Given the description of an element on the screen output the (x, y) to click on. 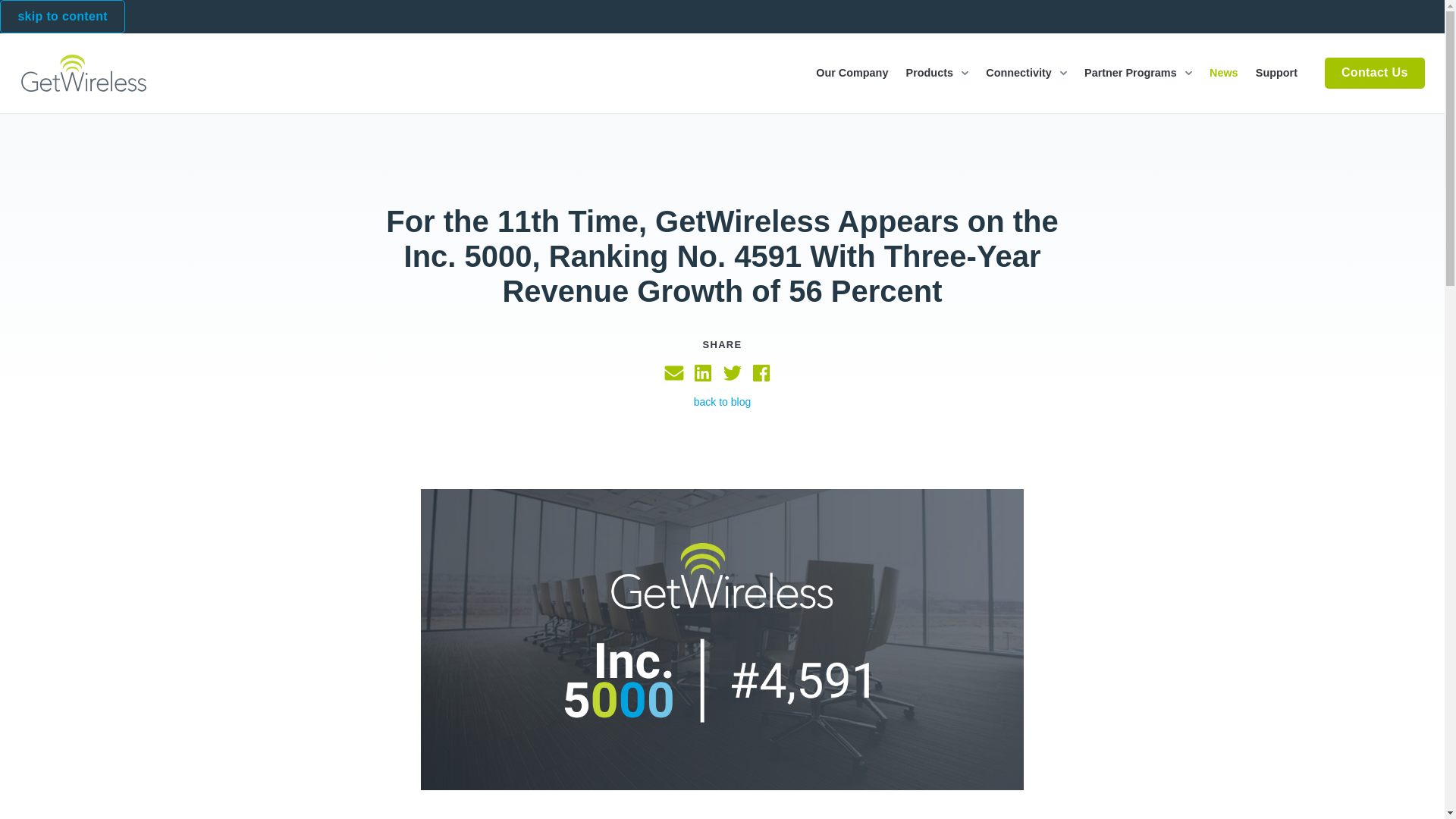
Our Company (852, 72)
skip to content (62, 16)
Partner Programs (1137, 72)
Connectivity (1027, 72)
GetWireless (84, 72)
Products (936, 72)
